Given the description of an element on the screen output the (x, y) to click on. 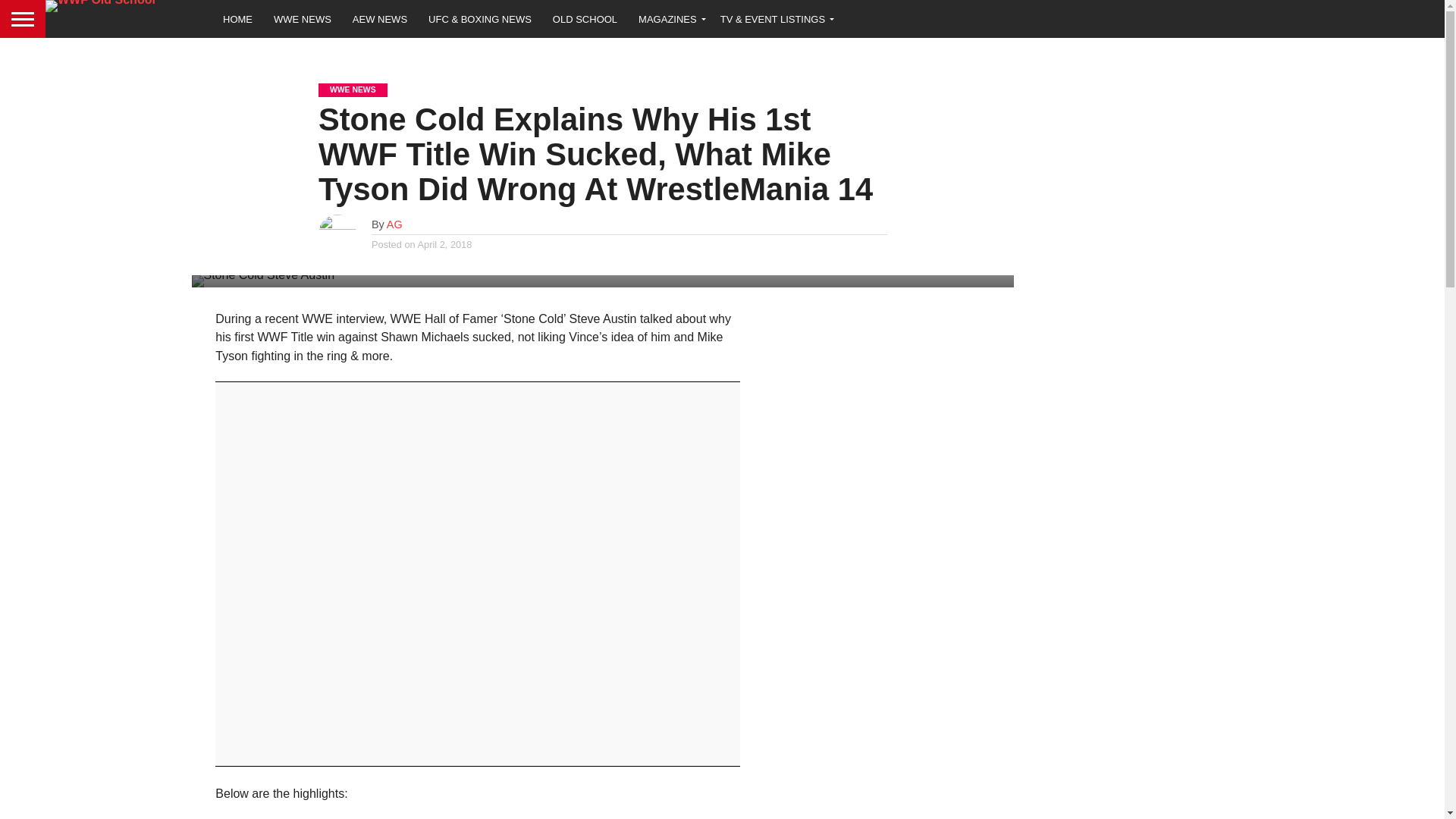
MAGAZINES (668, 18)
Posts by AG (395, 224)
HOME (237, 18)
OLD SCHOOL (584, 18)
AEW NEWS (379, 18)
WWE NEWS (302, 18)
